Given the description of an element on the screen output the (x, y) to click on. 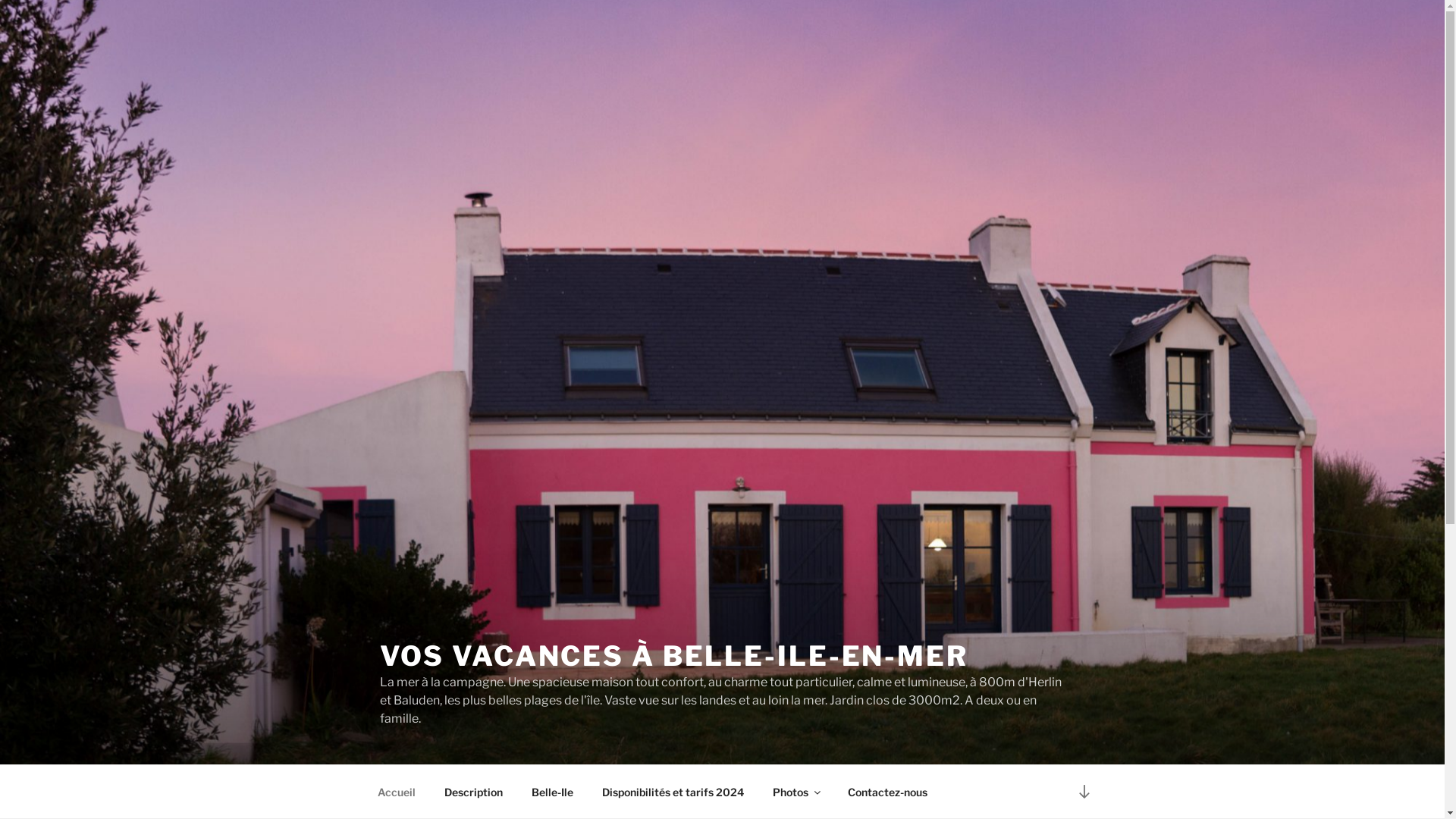
Aller au contenu principal Element type: text (0, 0)
Descendre au contenu Element type: text (1083, 790)
Description Element type: text (472, 791)
Contactez-nous Element type: text (887, 791)
Accueil Element type: text (396, 791)
Photos Element type: text (795, 791)
Belle-Ile Element type: text (552, 791)
